Given the description of an element on the screen output the (x, y) to click on. 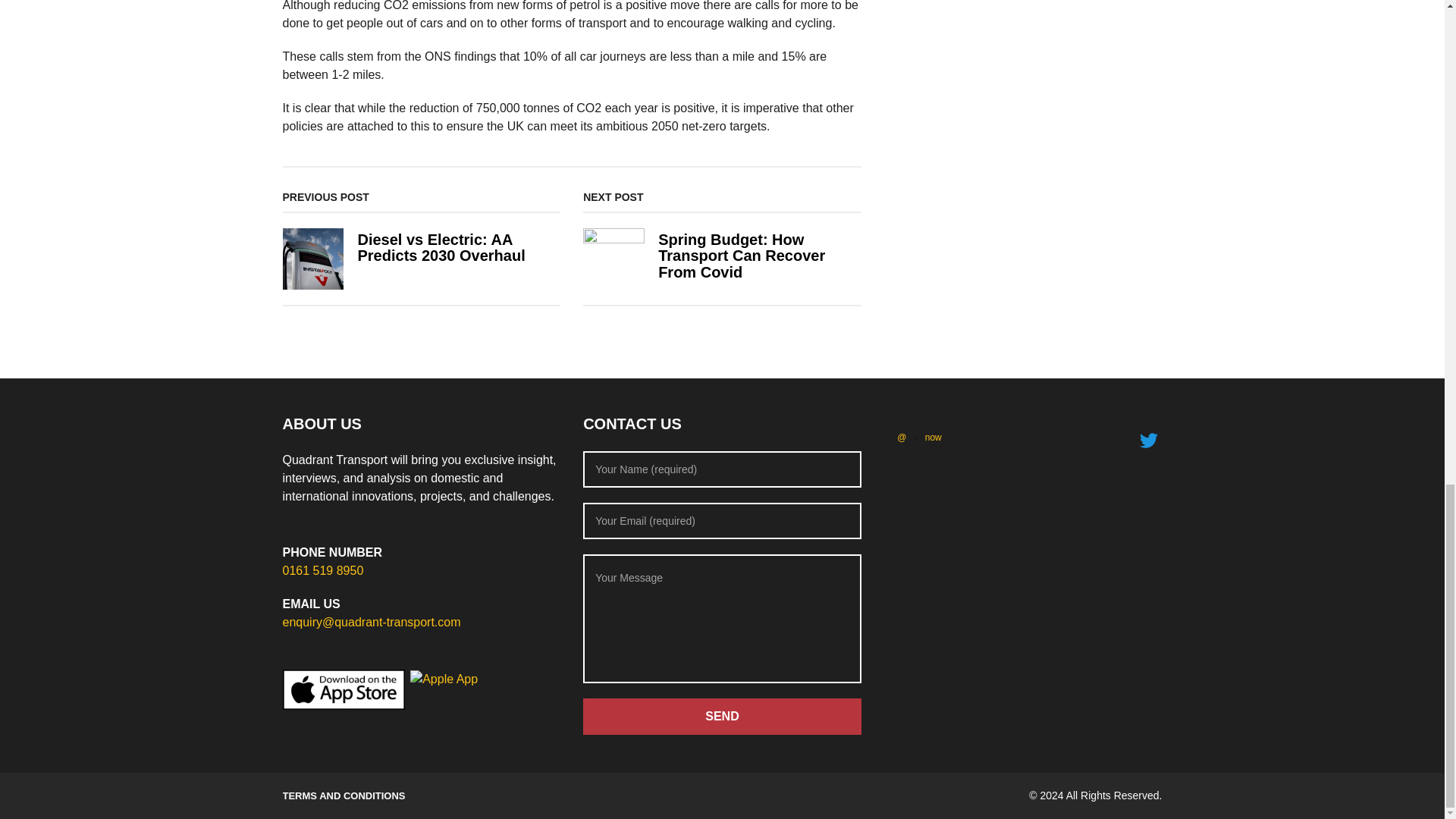
0161 519 8950 (322, 570)
Diesel vs Electric: AA Predicts 2030 Overhaul (440, 246)
Send (722, 716)
Spring Budget: How Transport Can Recover From Covid (741, 255)
